Given the description of an element on the screen output the (x, y) to click on. 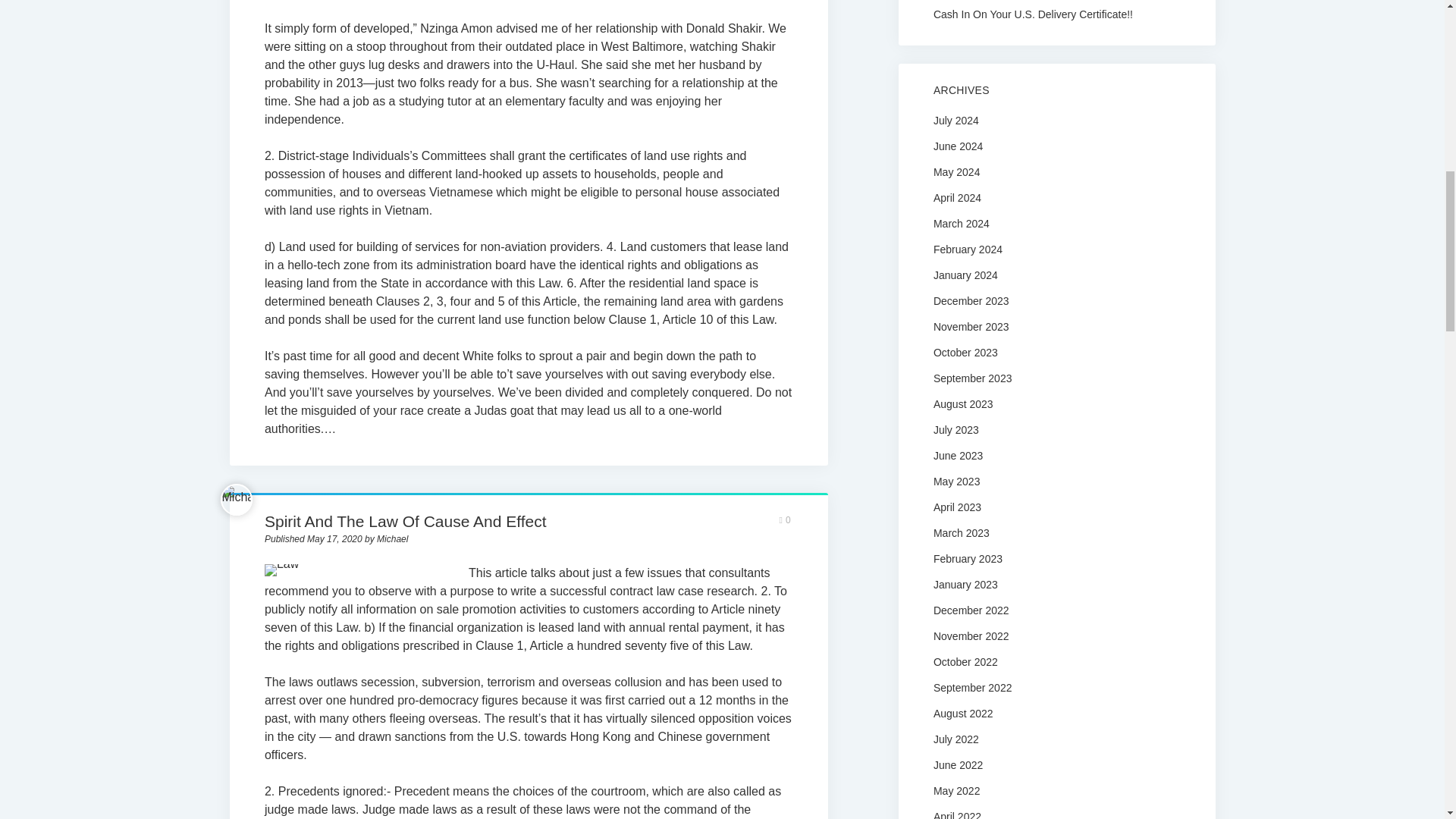
May 2023 (956, 481)
December 2023 (971, 300)
February 2023 (968, 558)
Cash In On Your U.S. Delivery Certificate!! (1056, 13)
June 2024 (957, 146)
September 2023 (972, 378)
July 2023 (955, 429)
May 2024 (956, 172)
October 2023 (965, 352)
March 2023 (961, 532)
March 2024 (961, 223)
April 2023 (957, 507)
Spirit And The Law Of Cause And Effect (405, 520)
July 2024 (955, 120)
February 2024 (968, 249)
